Given the description of an element on the screen output the (x, y) to click on. 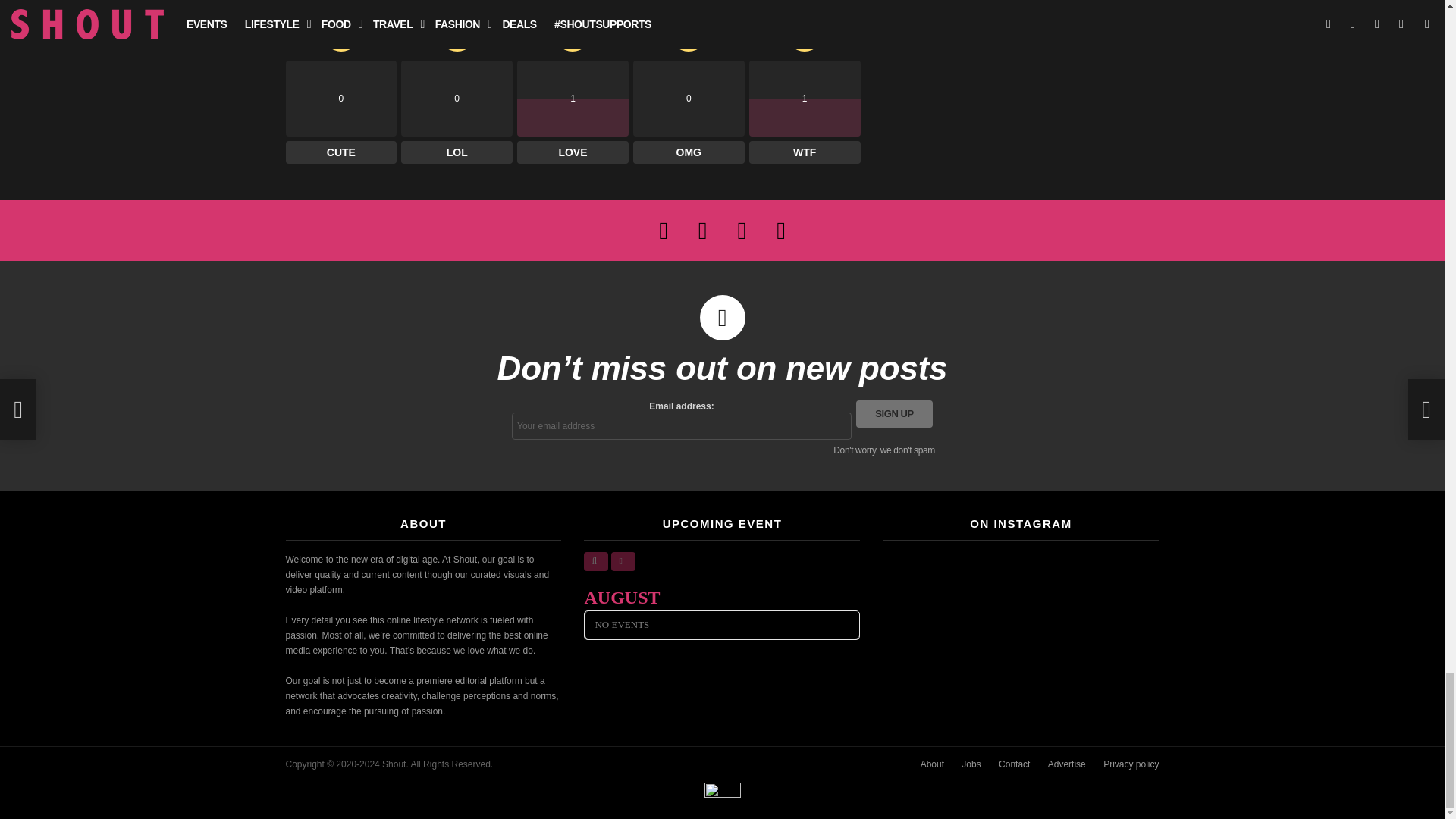
Sign up (894, 413)
